Given the description of an element on the screen output the (x, y) to click on. 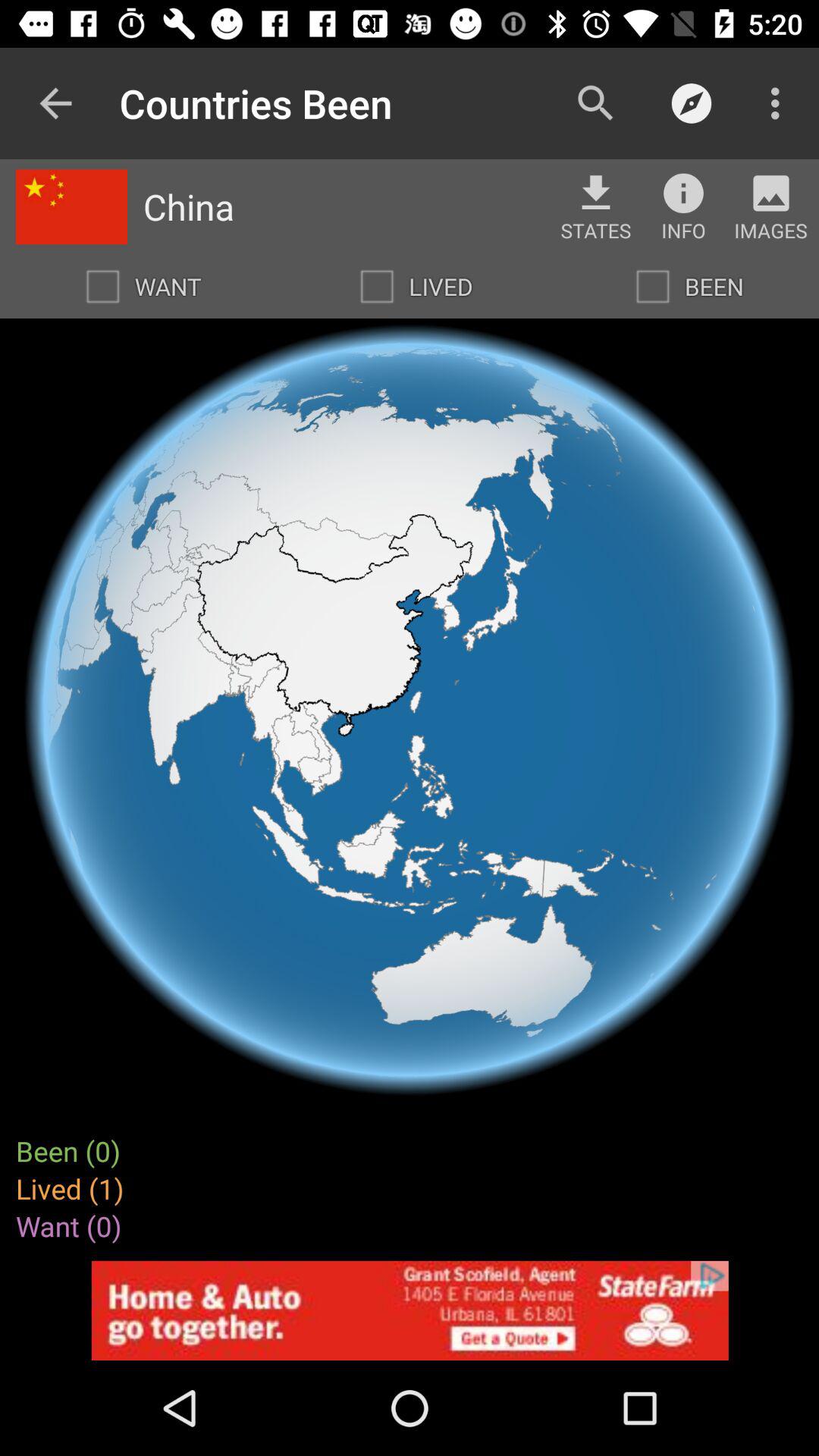
user to check box if been to china (652, 286)
